Given the description of an element on the screen output the (x, y) to click on. 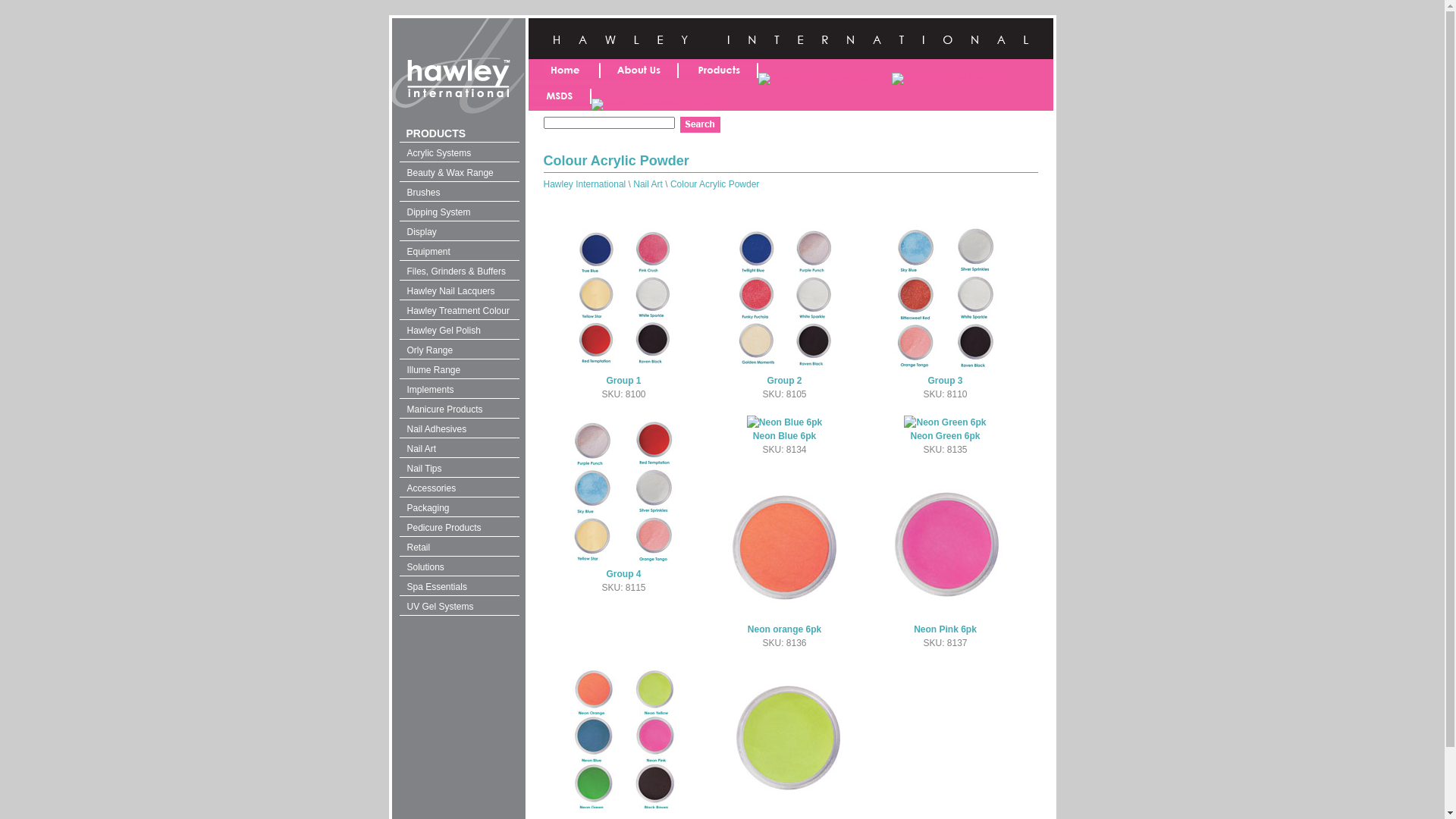
Nail Adhesives Element type: text (458, 427)
Group 4 Element type: text (622, 573)
Implements Element type: text (458, 388)
Display Element type: text (458, 230)
Solutions Element type: text (458, 565)
Neon Blue 6pk Element type: text (784, 435)
Pedicure Products Element type: text (458, 526)
UV Gel Systems Element type: text (458, 605)
Hawley Treatment Colour 4-in-1 Element type: text (458, 309)
Beauty & Wax Range Element type: text (458, 171)
Colour Acrylic Powder Element type: text (714, 183)
Retail Element type: text (458, 545)
Manicure Products Element type: text (458, 407)
Nail Art Element type: text (458, 447)
Nail Tips Element type: text (458, 467)
Packaging Element type: text (458, 506)
Hawley Nail Lacquers Element type: text (458, 289)
Equipment Element type: text (458, 250)
Group 1 Element type: text (622, 380)
Nail Art Element type: text (647, 183)
Orly Range Element type: text (458, 348)
Illume Range Element type: text (458, 368)
Hawley Gel Polish Element type: text (458, 329)
Hawley International Element type: text (583, 183)
Acrylic Systems Element type: text (458, 151)
Spa Essentials Element type: text (458, 585)
Neon Green 6pk Element type: text (944, 435)
Neon Pink 6pk Element type: text (944, 629)
Files, Grinders & Buffers Element type: text (458, 269)
Dipping System Element type: text (458, 210)
Group 2 Element type: text (783, 380)
Accessories Element type: text (458, 486)
Neon orange 6pk Element type: text (784, 629)
Search Element type: hover (699, 124)
Group 3 Element type: text (944, 380)
Brushes Element type: text (458, 191)
